Given the description of an element on the screen output the (x, y) to click on. 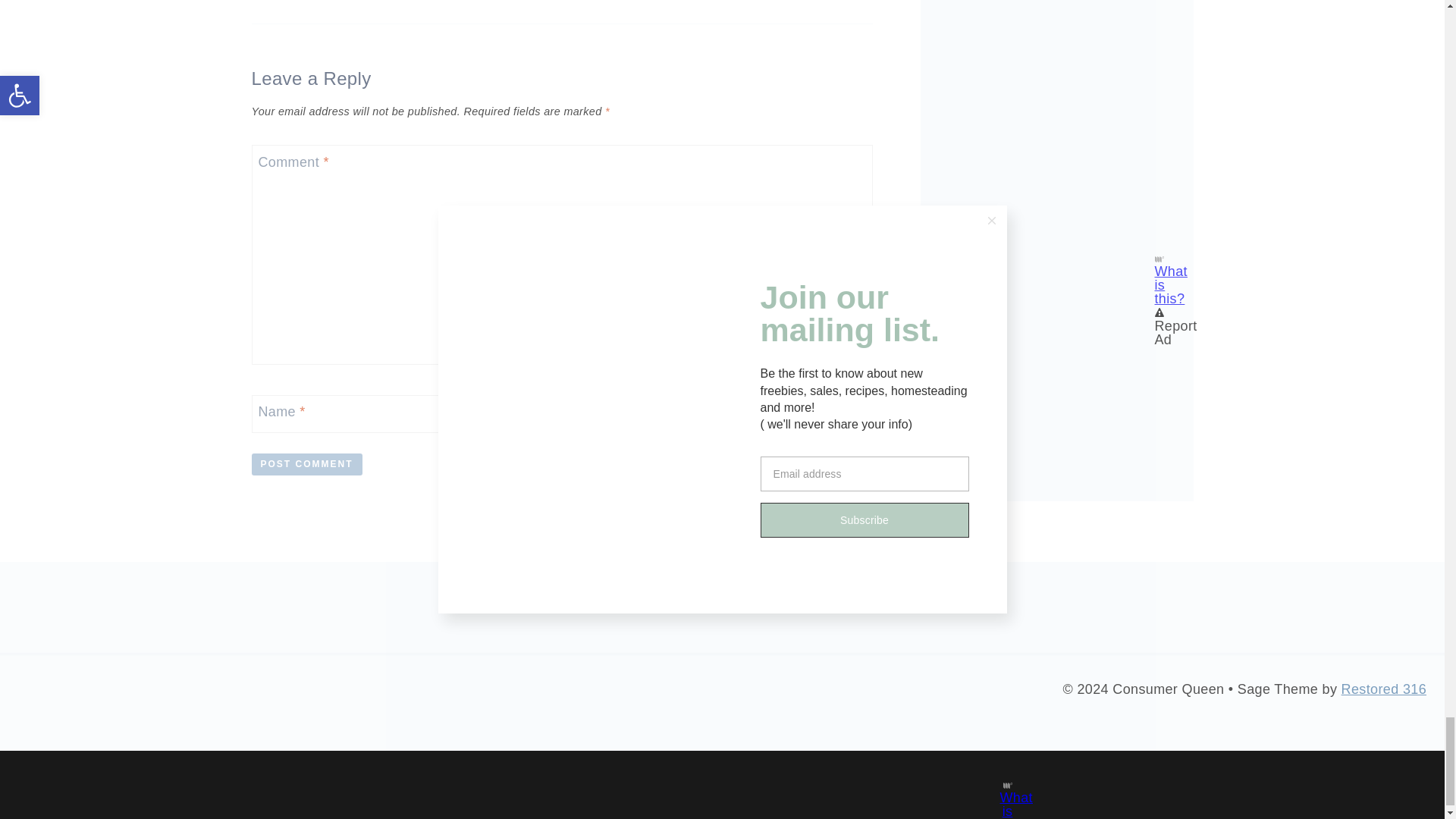
Post Comment (306, 464)
